Given the description of an element on the screen output the (x, y) to click on. 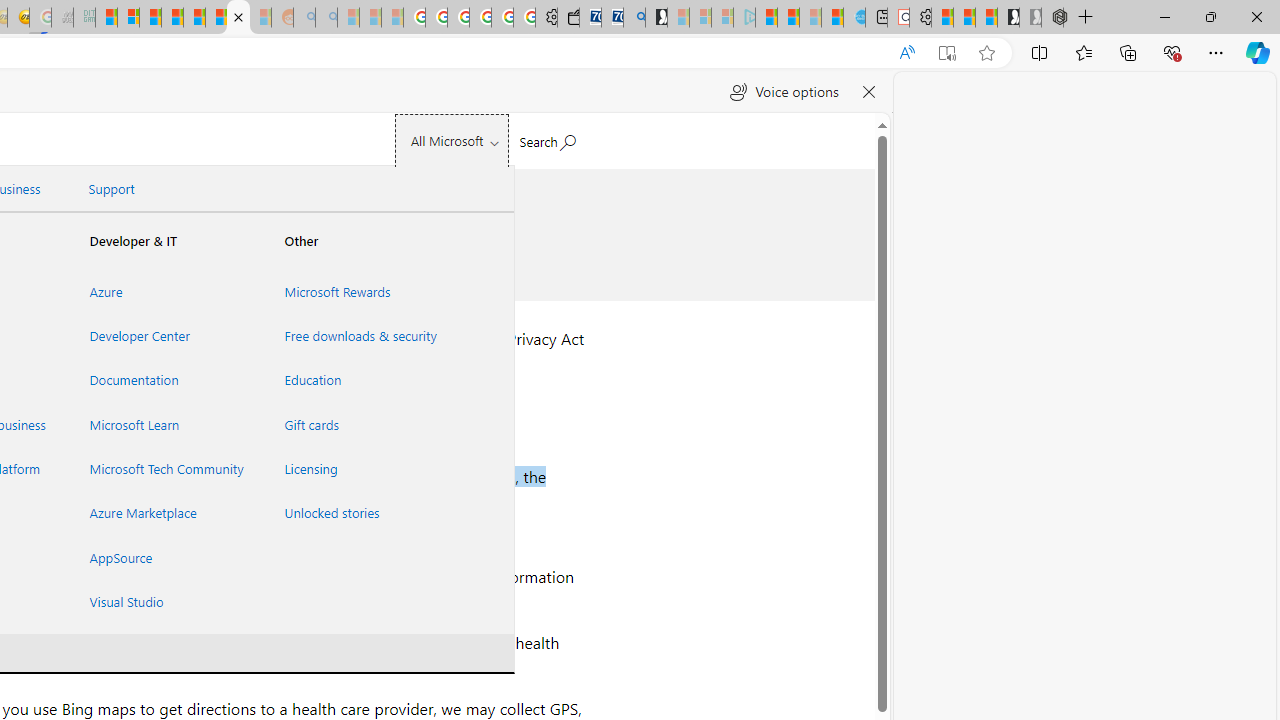
Bing Real Estate - Home sales and rental listings (634, 17)
Microsoft Tech Community (163, 468)
Azure (163, 291)
Search Microsoft.com (546, 138)
Visual Studio (163, 601)
Cheap Car Rentals - Save70.com (612, 17)
Wallet (568, 17)
Gift cards (357, 424)
